Given the description of an element on the screen output the (x, y) to click on. 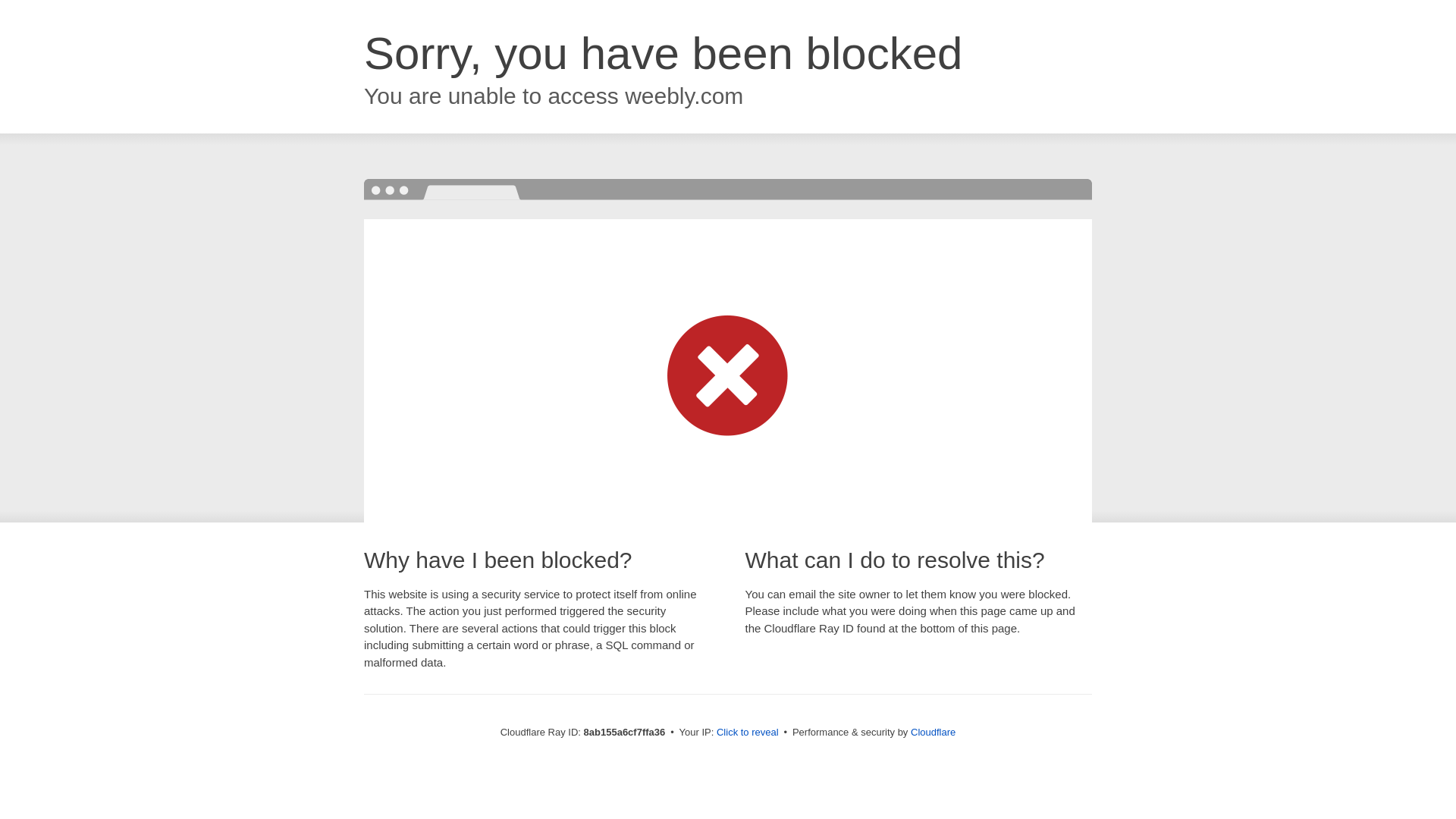
Click to reveal (747, 732)
Cloudflare (933, 731)
